Given the description of an element on the screen output the (x, y) to click on. 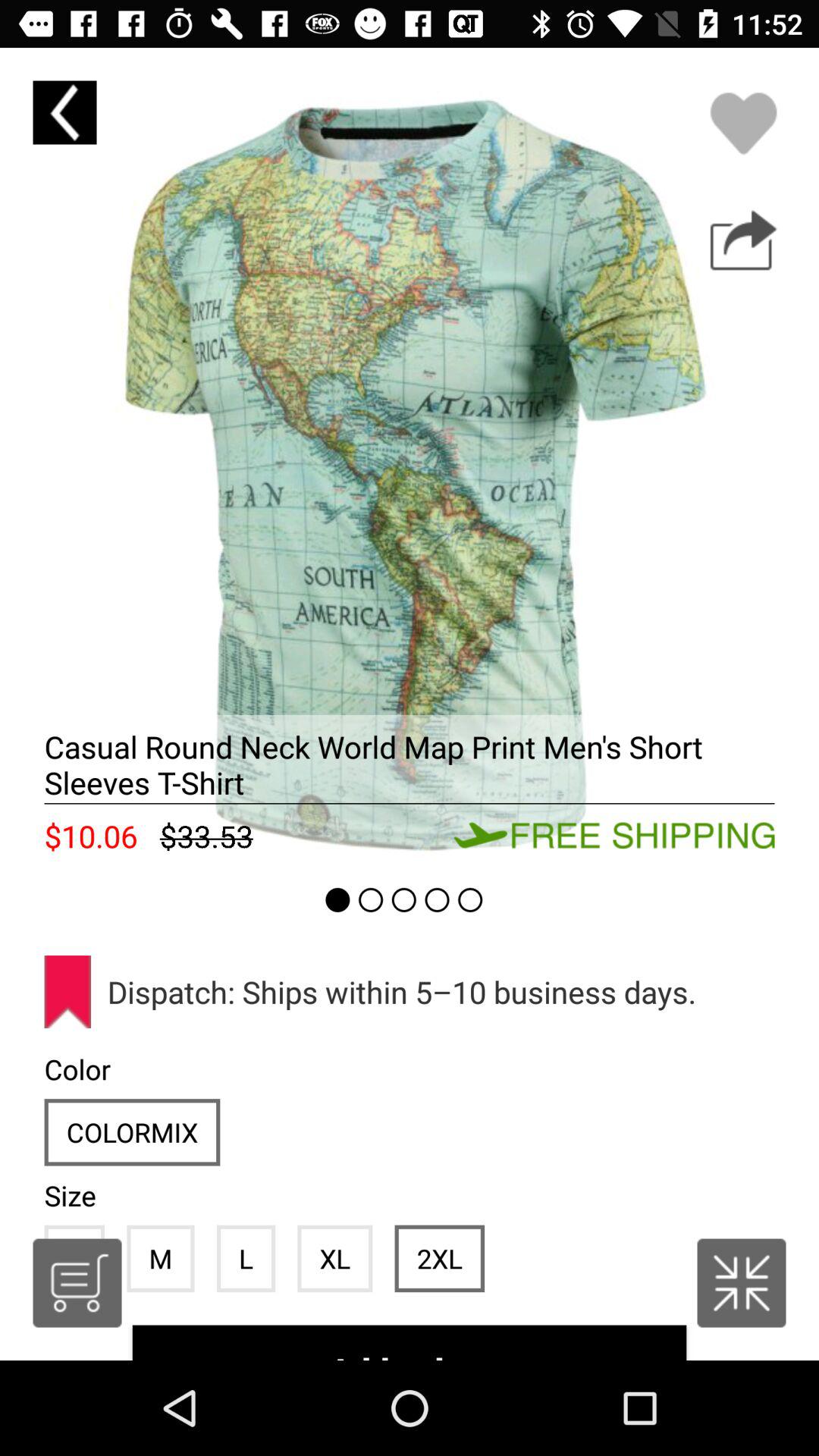
tap icon at the bottom right corner (741, 1282)
